Given the description of an element on the screen output the (x, y) to click on. 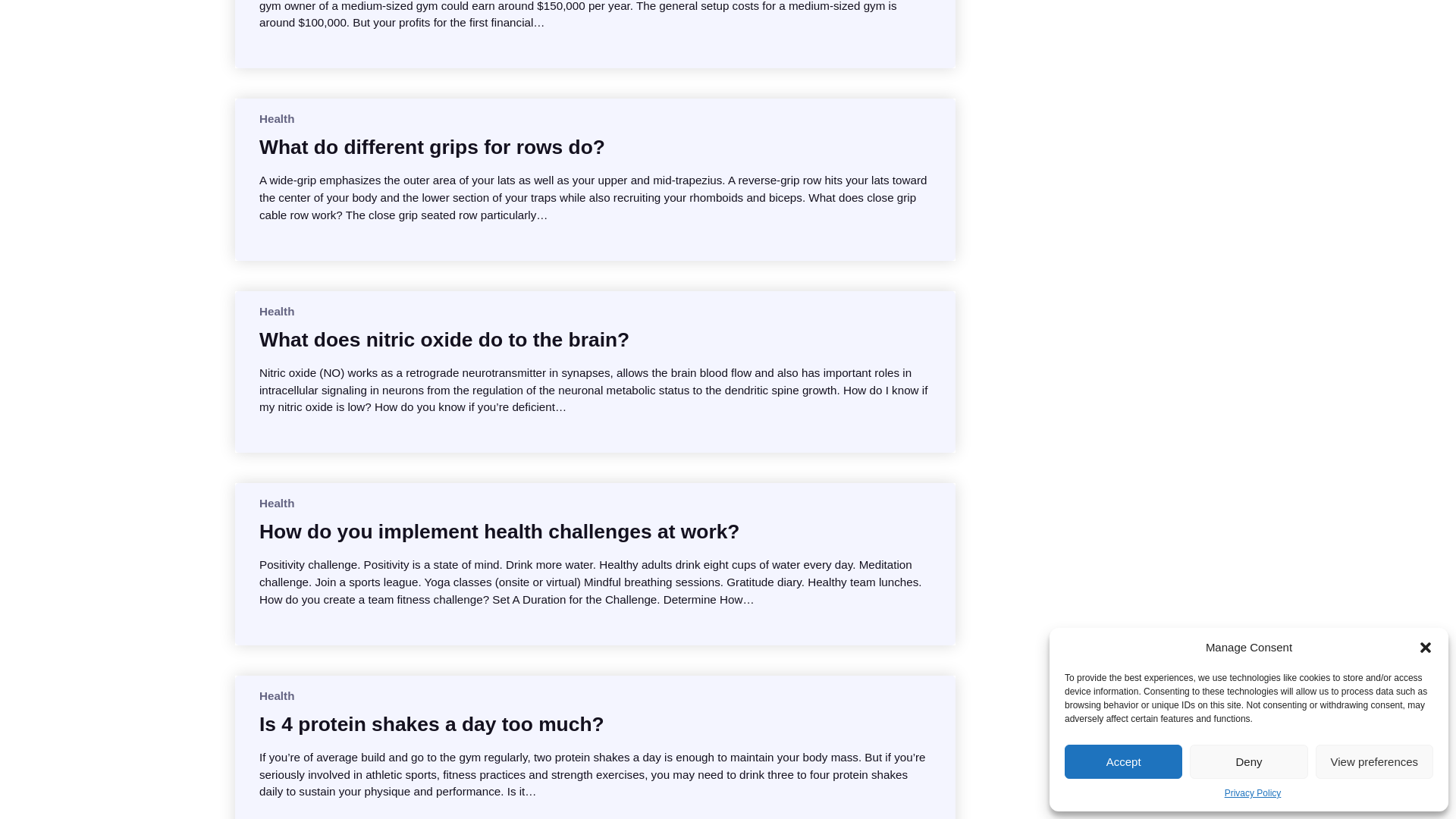
Health (276, 310)
Is 4 protein shakes a day too much? (431, 724)
Health (276, 118)
How do you implement health challenges at work? (499, 531)
Health (276, 502)
Health (276, 695)
What does nitric oxide do to the brain? (443, 339)
What do different grips for rows do? (432, 146)
